Given the description of an element on the screen output the (x, y) to click on. 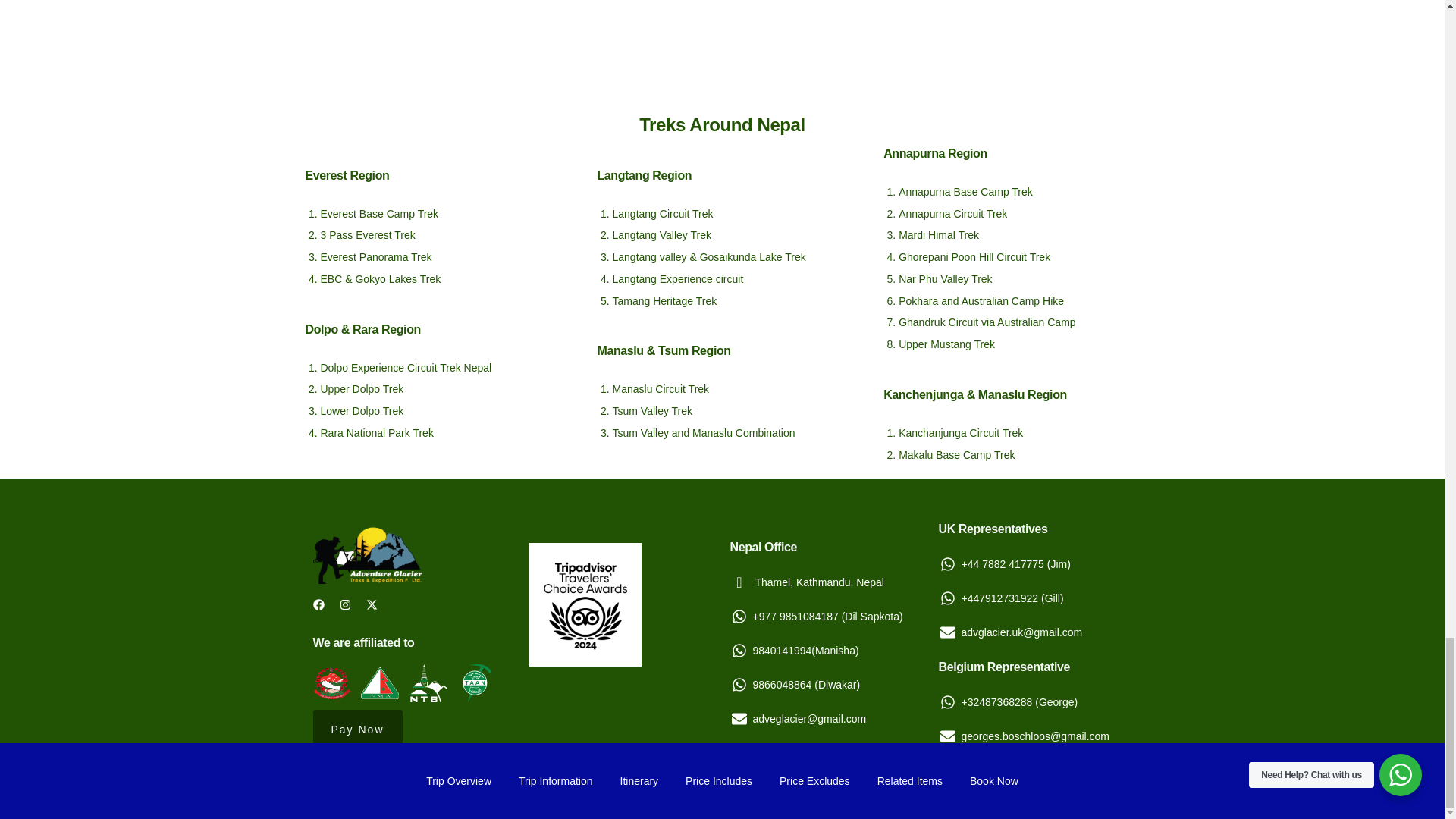
Home (369, 548)
